Given the description of an element on the screen output the (x, y) to click on. 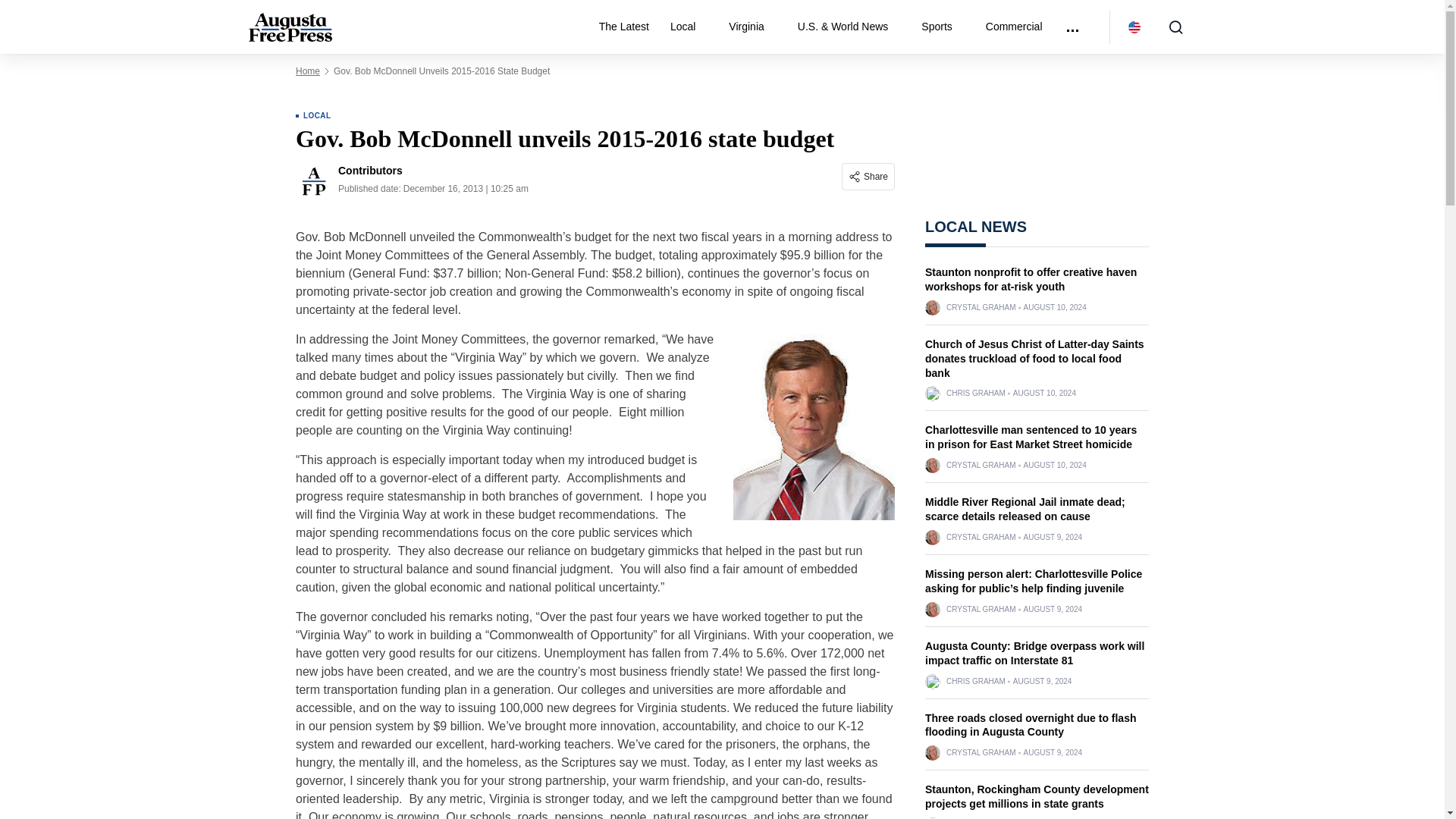
The Latest (623, 27)
Local (688, 27)
Sports (942, 27)
Commercial (1013, 27)
Virginia (751, 27)
